Given the description of an element on the screen output the (x, y) to click on. 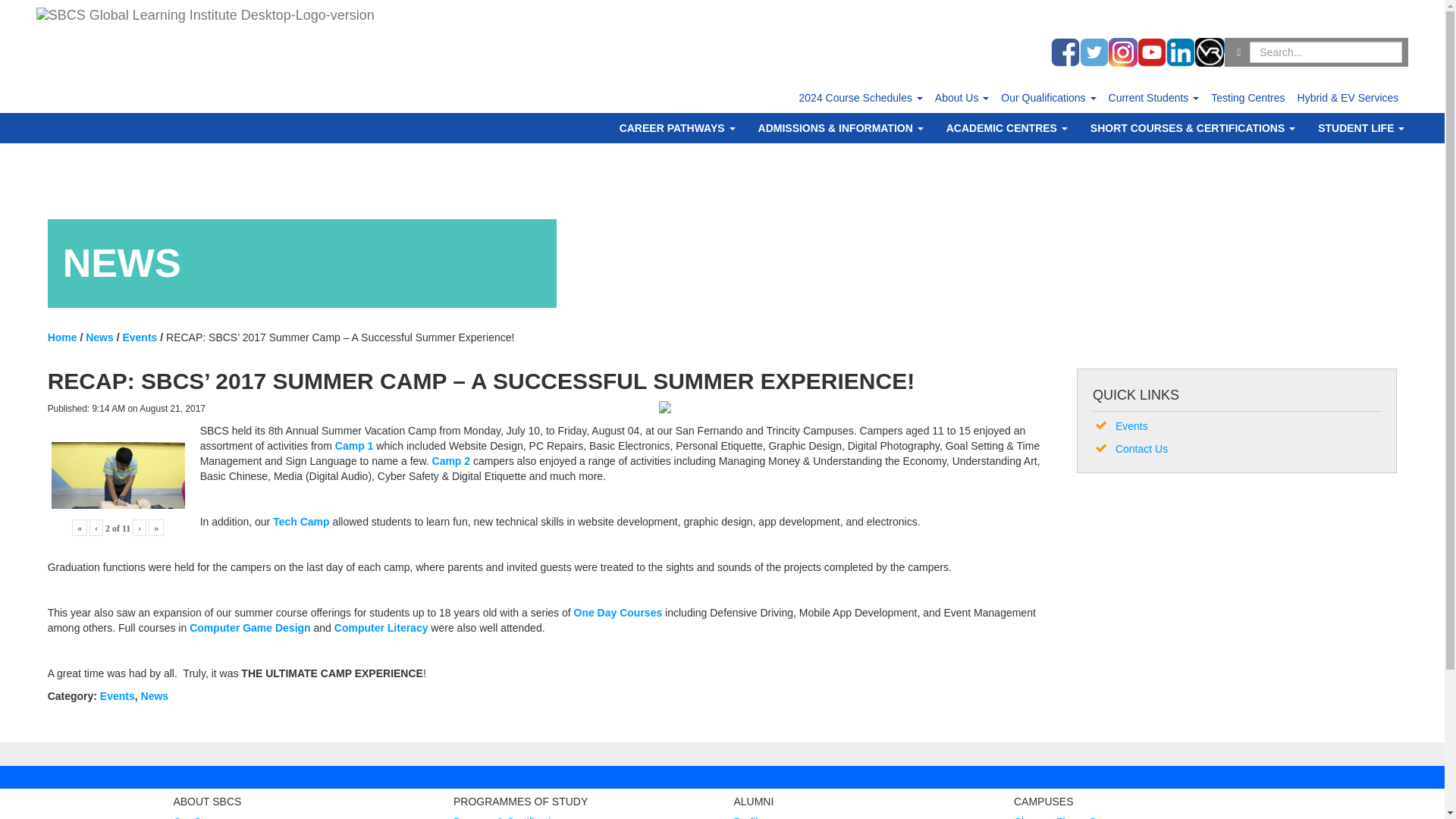
SBCS Global Learning Institute (205, 18)
